Given the description of an element on the screen output the (x, y) to click on. 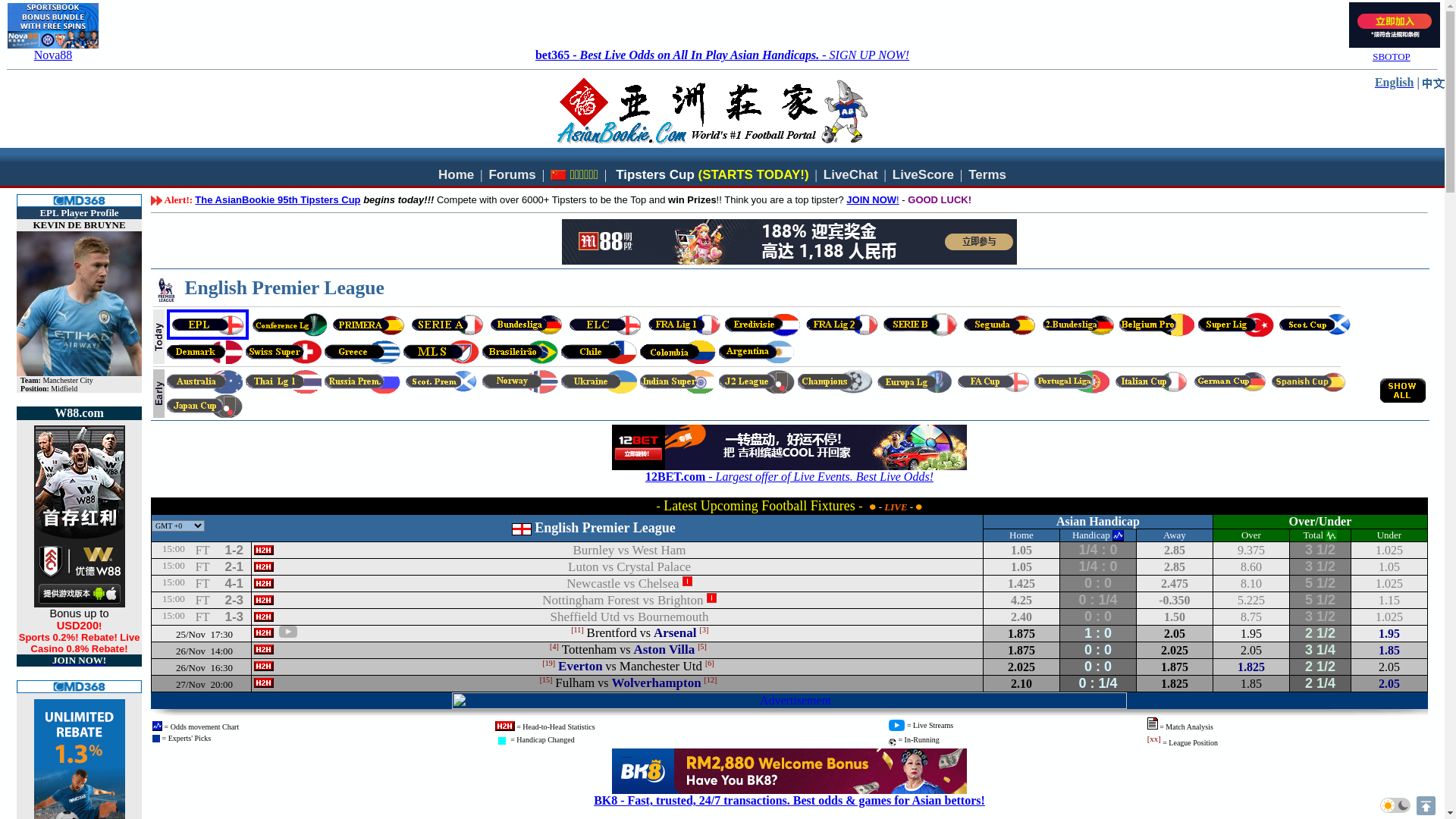
LiveScore Element type: text (922, 173)
-Segunda- Element type: hover (999, 324)
1/4 : 0 Element type: text (1097, 550)
-Japan Cup- Element type: hover (204, 405)
5 1/2 Element type: text (1319, 583)
-France Ligue 1- Element type: hover (683, 324)
Head-To-Head Stats Element type: hover (263, 682)
-Russia Premier League- Element type: hover (362, 381)
Terms Element type: text (987, 173)
-Italian Cup- Element type: hover (1151, 381)
-Australia A-League- Element type: hover (204, 381)
2-1 Element type: text (233, 566)
3 1/2 Element type: text (1319, 616)
SBOTOP Element type: text (1391, 55)
-German 2.Bundesliga- Element type: hover (1078, 324)
Tipsters Cup (STARTS TODAY!) Element type: text (711, 173)
1-3 Element type: text (233, 616)
0 : 0 Element type: text (1097, 583)
-GBL- Element type: hover (526, 324)
Head-To-Head Stats Element type: hover (263, 632)
-Major League Soccer- Element type: hover (441, 351)
ALL Element type: hover (1402, 390)
Live stream starts 10-15 mins before kickoff Element type: hover (288, 631)
-La Liga- Element type: hover (368, 324)
-Belgium Pro- Element type: hover (1157, 324)
1/4 : 0 Element type: text (1097, 566)
Head-To-Head Stats Element type: hover (263, 566)
-Norway Eliteserien- Element type: hover (520, 381)
0 : 0 Element type: text (1097, 616)
-Colombia Primera A- Element type: hover (677, 351)
-Portugal Liga- Element type: hover (1072, 381)
-German Cup- Element type: hover (1229, 381)
Forums Element type: text (511, 173)
-Ned 1- Element type: hover (762, 324)
1-2 Element type: text (233, 549)
The AsianBookie 95th Tipsters Cup Element type: text (277, 199)
Red card Element type: hover (711, 597)
-Thai Premier- Element type: hover (283, 381)
-Ukraine Premier League- Element type: hover (599, 381)
-France Ligue 2- Element type: hover (841, 324)
0 : 1/4 Element type: text (1097, 600)
2 1/2 Element type: text (1319, 633)
3 1/2 Element type: text (1319, 566)
-SERIE B- Element type: hover (920, 324)
2 1/2 Element type: text (1319, 666)
1 : 0 Element type: text (1097, 633)
-Scotland Cup- Element type: hover (1314, 324)
Head-To-Head Stats Element type: hover (263, 649)
-J2 League- Element type: hover (756, 381)
-EUROPA- Element type: hover (914, 381)
-Argentina Primera- Element type: hover (756, 351)
-EPL- Element type: hover (207, 324)
-Scotland Premier- Element type: hover (441, 381)
12BET.com - Largest offer of Live Events. Best Live Odds! Element type: text (789, 476)
3 1/2 Element type: text (1319, 550)
-English Lg Championship 1- Element type: hover (605, 324)
LiveChat Element type: text (850, 173)
-Chile Primera- Element type: hover (599, 351)
Nova88 Element type: text (53, 54)
0 : 0 Element type: text (1097, 650)
JOIN NOW! Element type: text (79, 658)
-Serie A- Element type: hover (447, 324)
-Brazil Serie A- Element type: hover (520, 351)
JOIN NOW! Element type: text (872, 199)
5 1/2 Element type: text (1319, 600)
Head-To-Head Stats Element type: hover (263, 549)
Home Element type: text (455, 173)
Head-To-Head Stats Element type: hover (263, 582)
Head-To-Head Stats Element type: hover (263, 599)
Click below for Odds Movement Chart Element type: hover (1117, 535)
Head-To-Head Stats Element type: hover (263, 666)
-Turkey Super Lig- Element type: hover (1236, 324)
-UEFA Champions League- Element type: hover (835, 381)
-ECL- Element type: hover (289, 324)
-Indian Super- Element type: hover (677, 381)
-Denmark Superliga- Element type: hover (204, 351)
2-3 Element type: text (233, 600)
Red card Element type: hover (687, 581)
3 1/4 Element type: text (1319, 650)
-Switzerland Super League- Element type: hover (283, 351)
2 1/4 Element type: text (1319, 683)
4-1 Element type: text (233, 583)
Go back to top Element type: hover (1425, 805)
Click below for O/U Odds Movement Chart Element type: hover (1330, 535)
0 : 1/4 Element type: text (1097, 683)
Enable dark mode Element type: hover (1395, 804)
-FA Cup- Element type: hover (993, 381)
English Element type: text (1394, 81)
0 : 0 Element type: text (1097, 666)
-Spain Cup- Element type: hover (1308, 381)
Head-To-Head Stats Element type: hover (263, 616)
-Greece Super League- Element type: hover (362, 351)
